Given the description of an element on the screen output the (x, y) to click on. 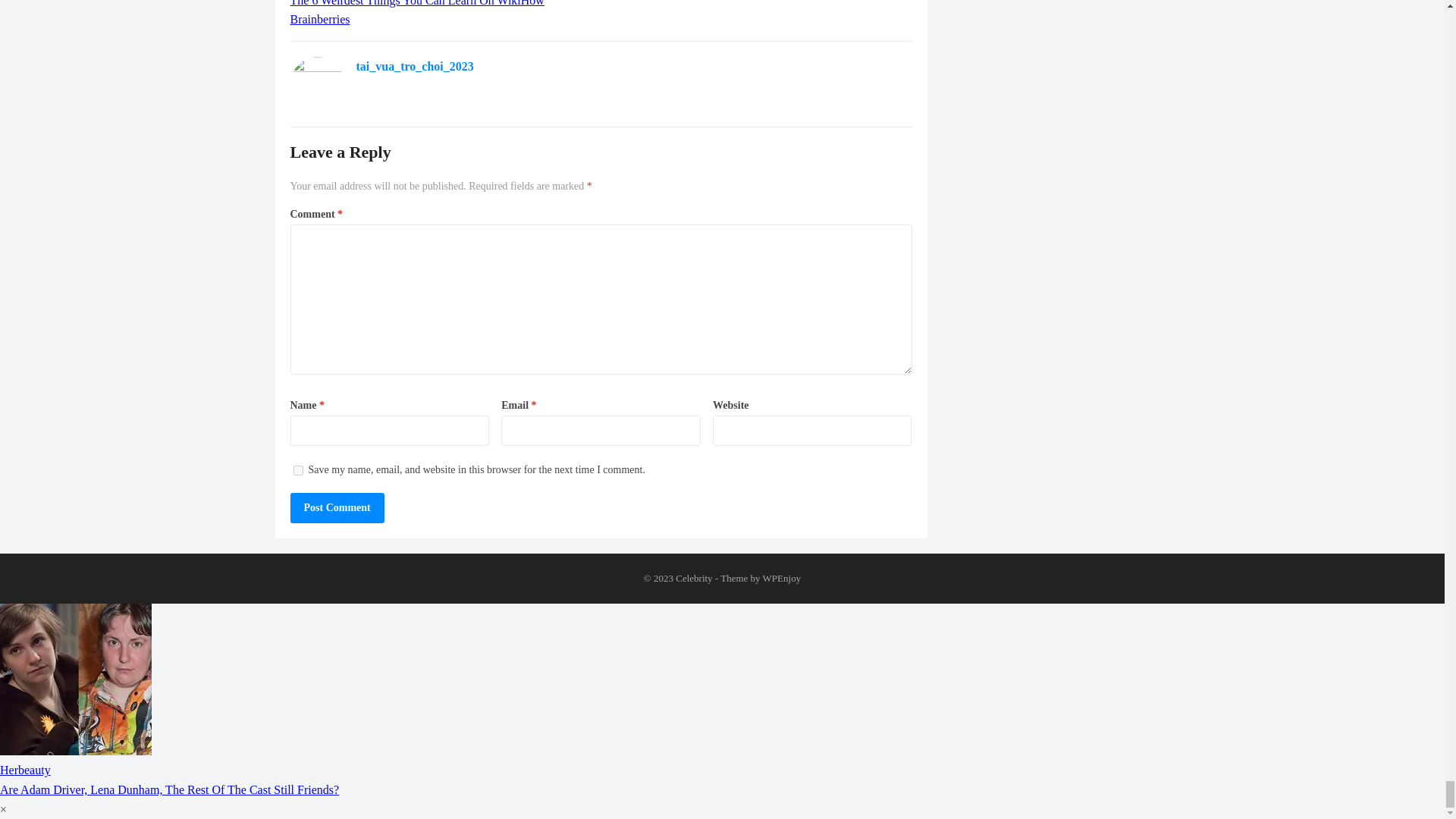
Post Comment (336, 508)
yes (297, 470)
Post Comment (336, 508)
